Given the description of an element on the screen output the (x, y) to click on. 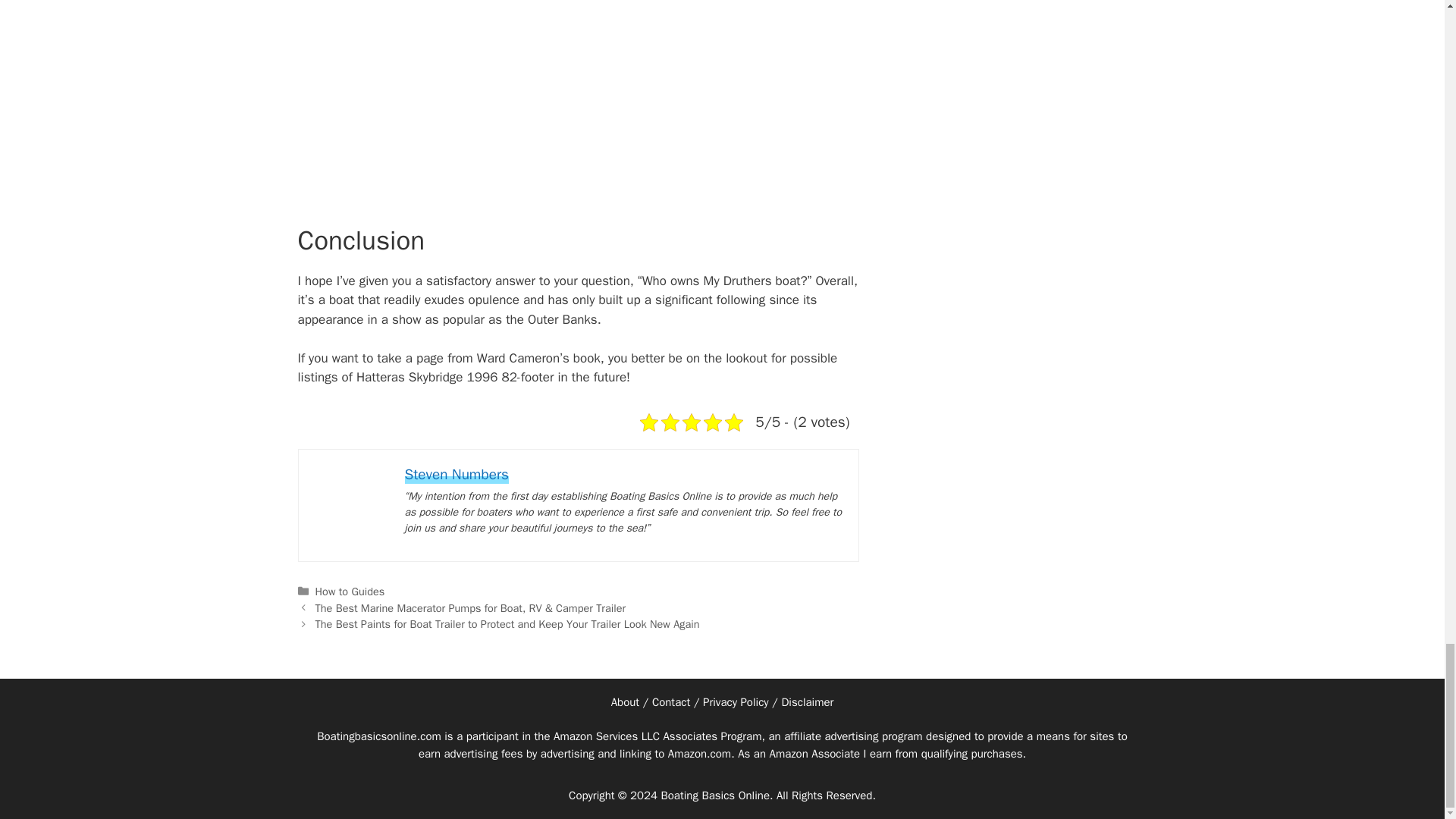
Steven Numbers (456, 475)
How to Guides (350, 591)
